Given the description of an element on the screen output the (x, y) to click on. 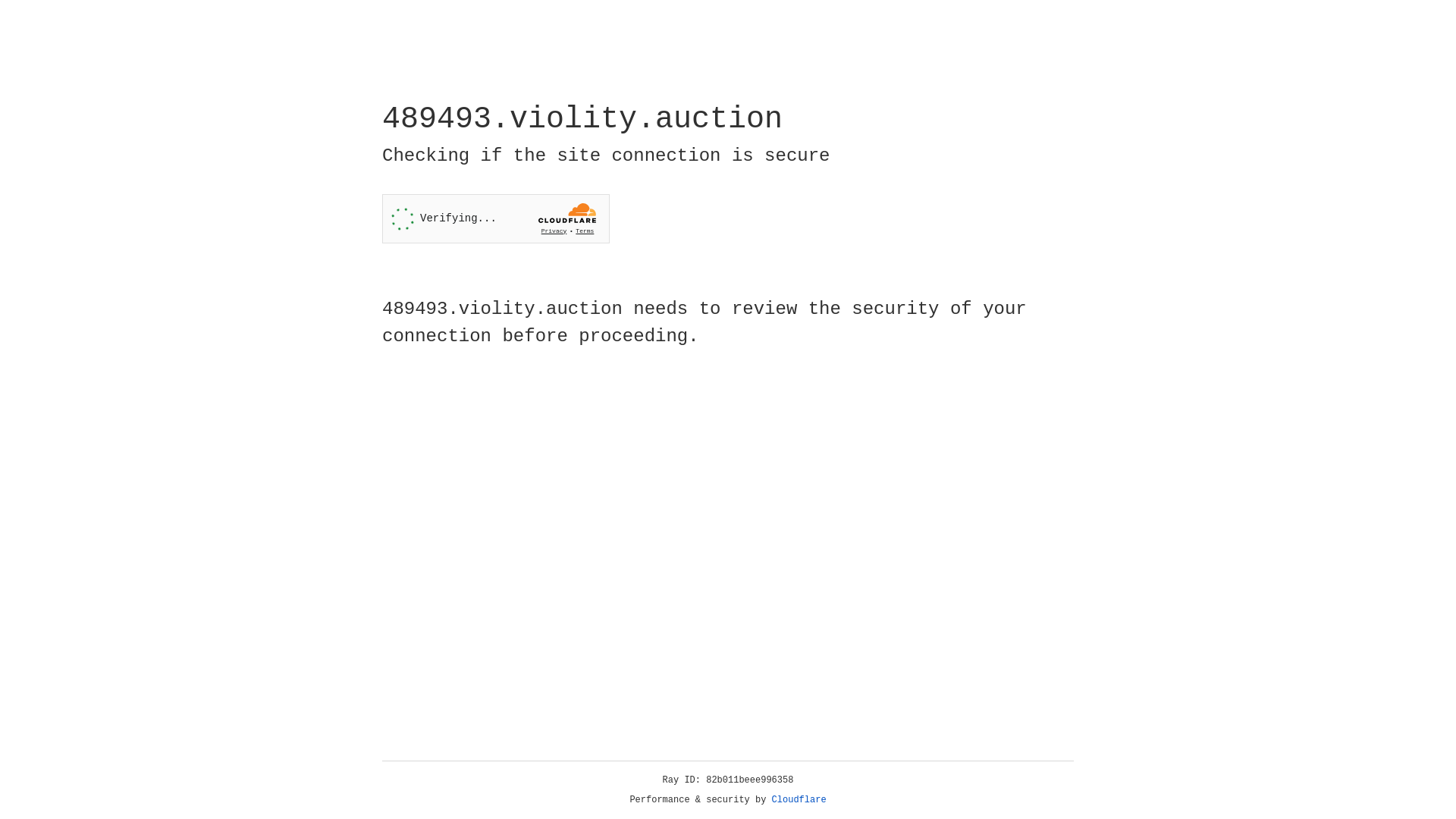
Widget containing a Cloudflare security challenge Element type: hover (495, 218)
Cloudflare Element type: text (798, 799)
